Given the description of an element on the screen output the (x, y) to click on. 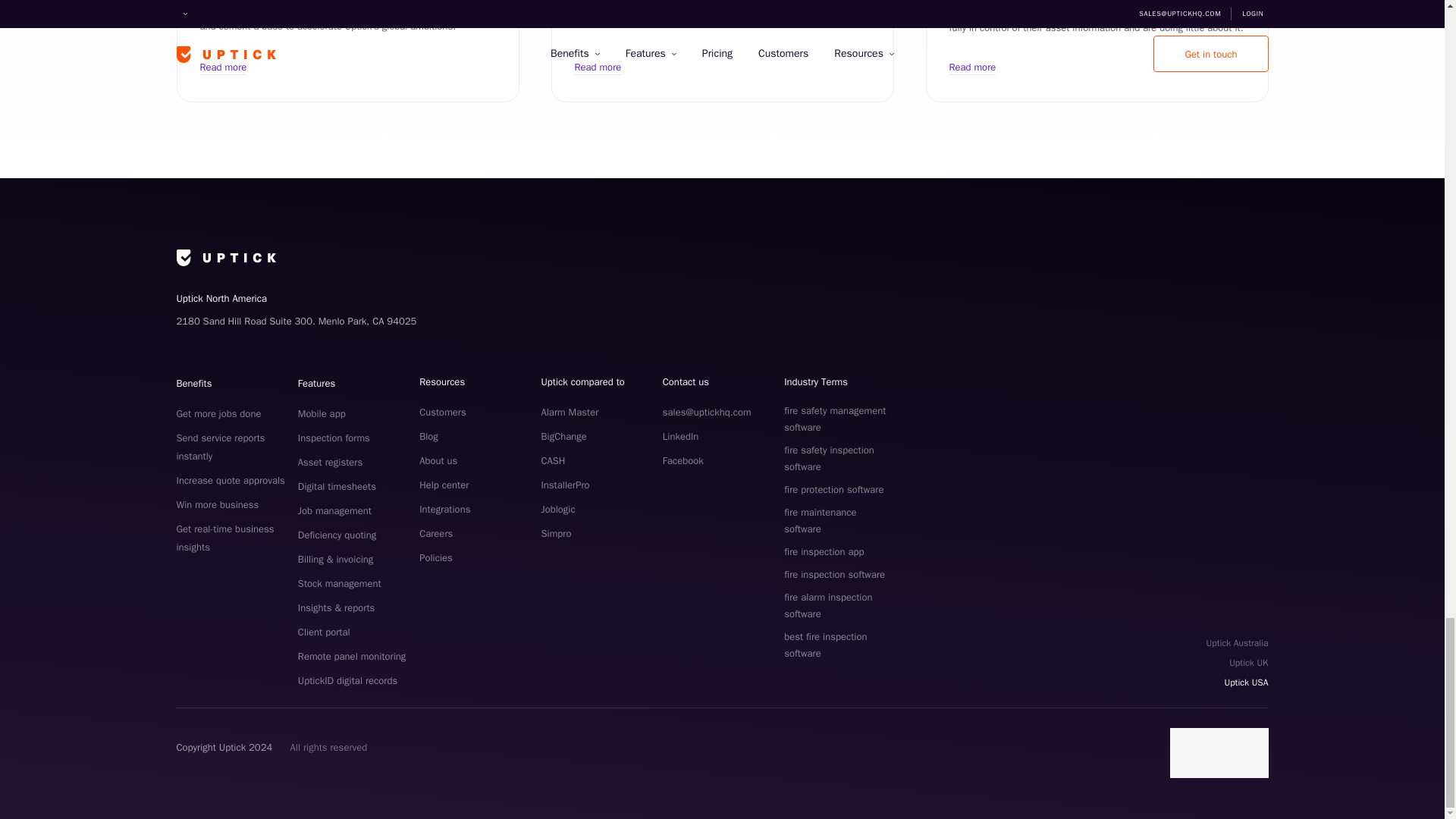
Send service reports instantly (220, 446)
Read more (598, 66)
Switch to our Uptick UK site (1237, 662)
Read more (972, 66)
Get more jobs done (218, 413)
Win more business (217, 504)
Increase quote approvals (229, 480)
Read more (223, 66)
Benefits (193, 382)
Features (316, 382)
Switch to our Uptick USA site (1237, 682)
Switch to our Uptick Australia site (1237, 642)
Get real-time business insights (224, 537)
